Given the description of an element on the screen output the (x, y) to click on. 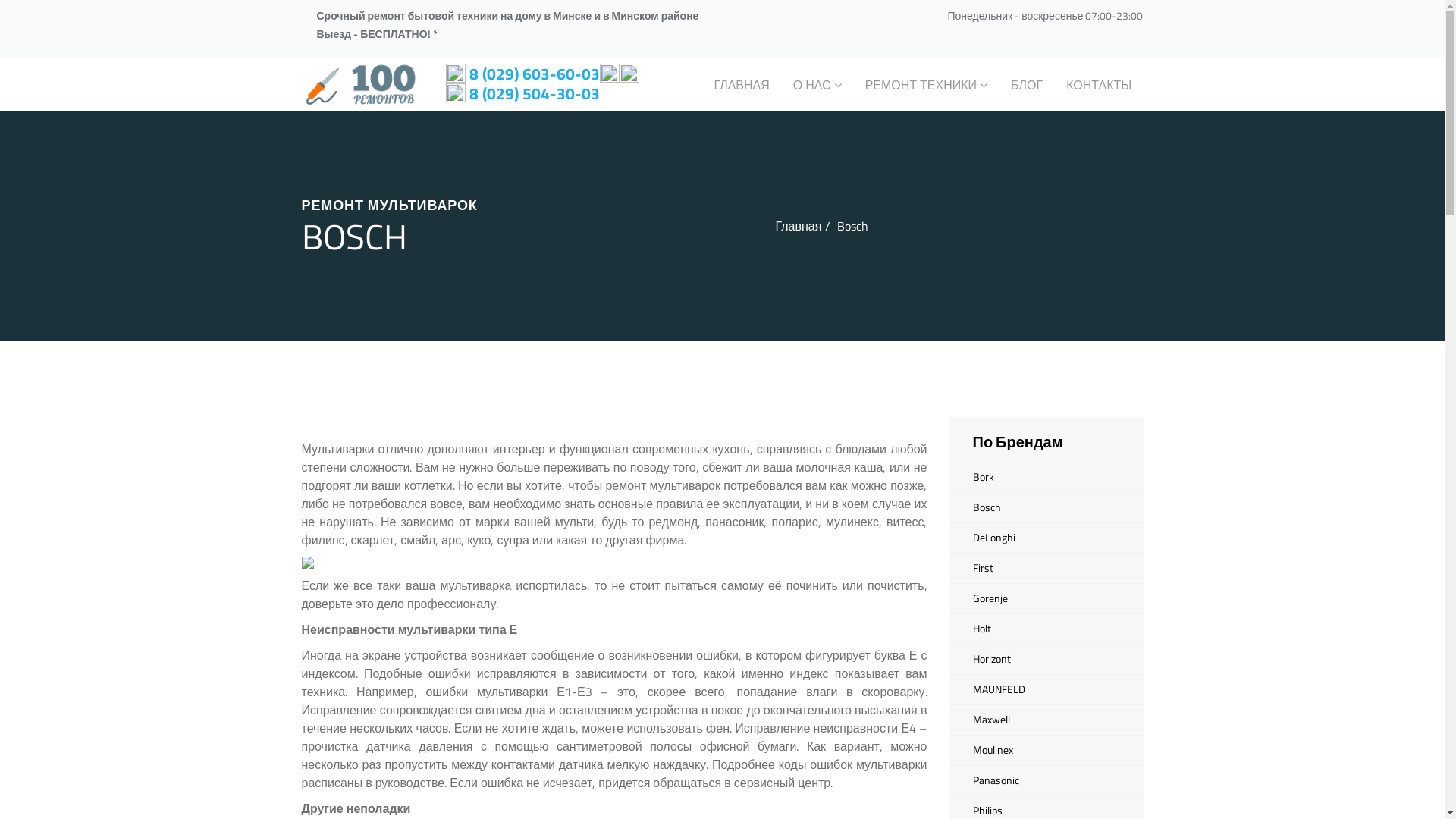
* Element type: text (435, 33)
Holt Element type: text (1045, 629)
8 (029) 504-30-03 Element type: text (410, 71)
Maxwell Element type: text (1045, 720)
MAUNFELD Element type: text (1045, 689)
8 (029) 603-60-03 Element type: text (410, 56)
Gorenje Element type: text (1045, 598)
First Element type: text (1045, 568)
Panasonic Element type: text (1045, 780)
DeLonghi Element type: text (1045, 538)
Bork Element type: text (1045, 477)
Bosch Element type: text (1045, 507)
Horizont Element type: text (1045, 659)
Moulinex Element type: text (1045, 750)
